Given the description of an element on the screen output the (x, y) to click on. 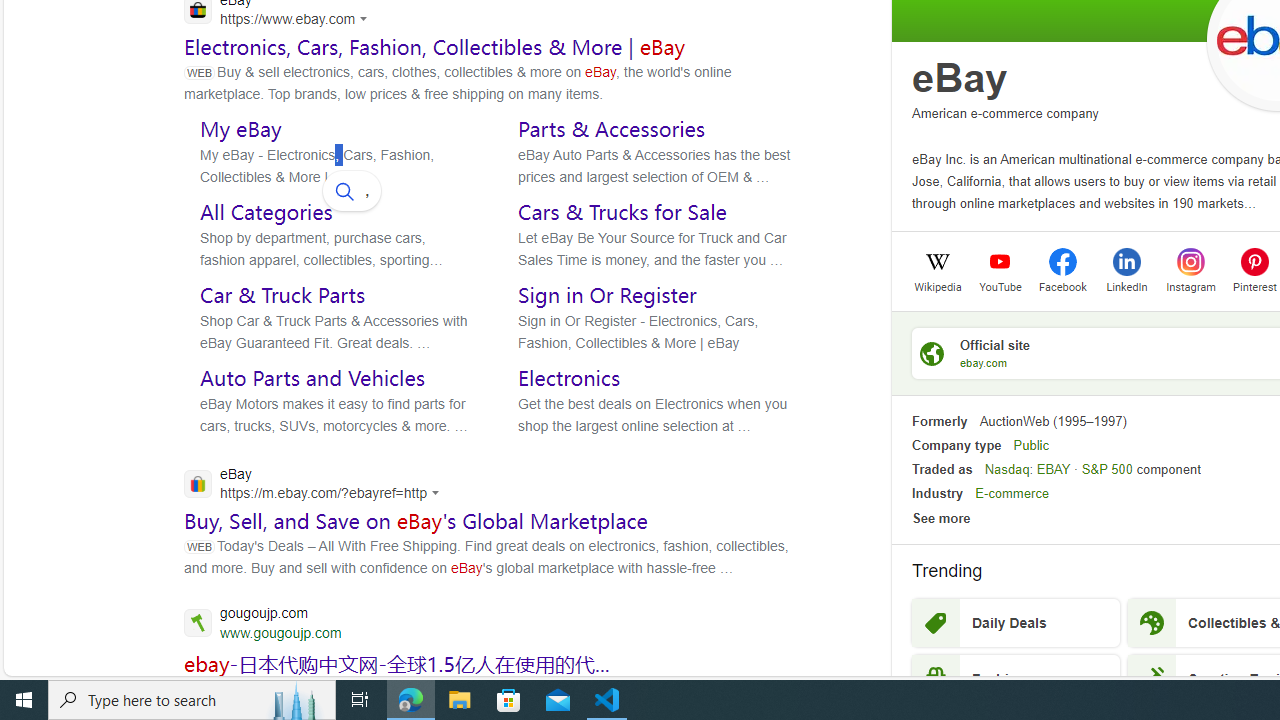
Pinterest (1254, 261)
eBay (959, 78)
Sign in Or Register (607, 295)
American e-commerce company (1005, 112)
All Categories (265, 211)
Auto Parts and Vehicles (311, 377)
, (351, 190)
Wikipedia (937, 285)
Formerly (939, 421)
S&P 500 (1106, 469)
LinkedIn (1126, 285)
Traded as (941, 469)
Industry (937, 493)
Electronics (569, 377)
